Given the description of an element on the screen output the (x, y) to click on. 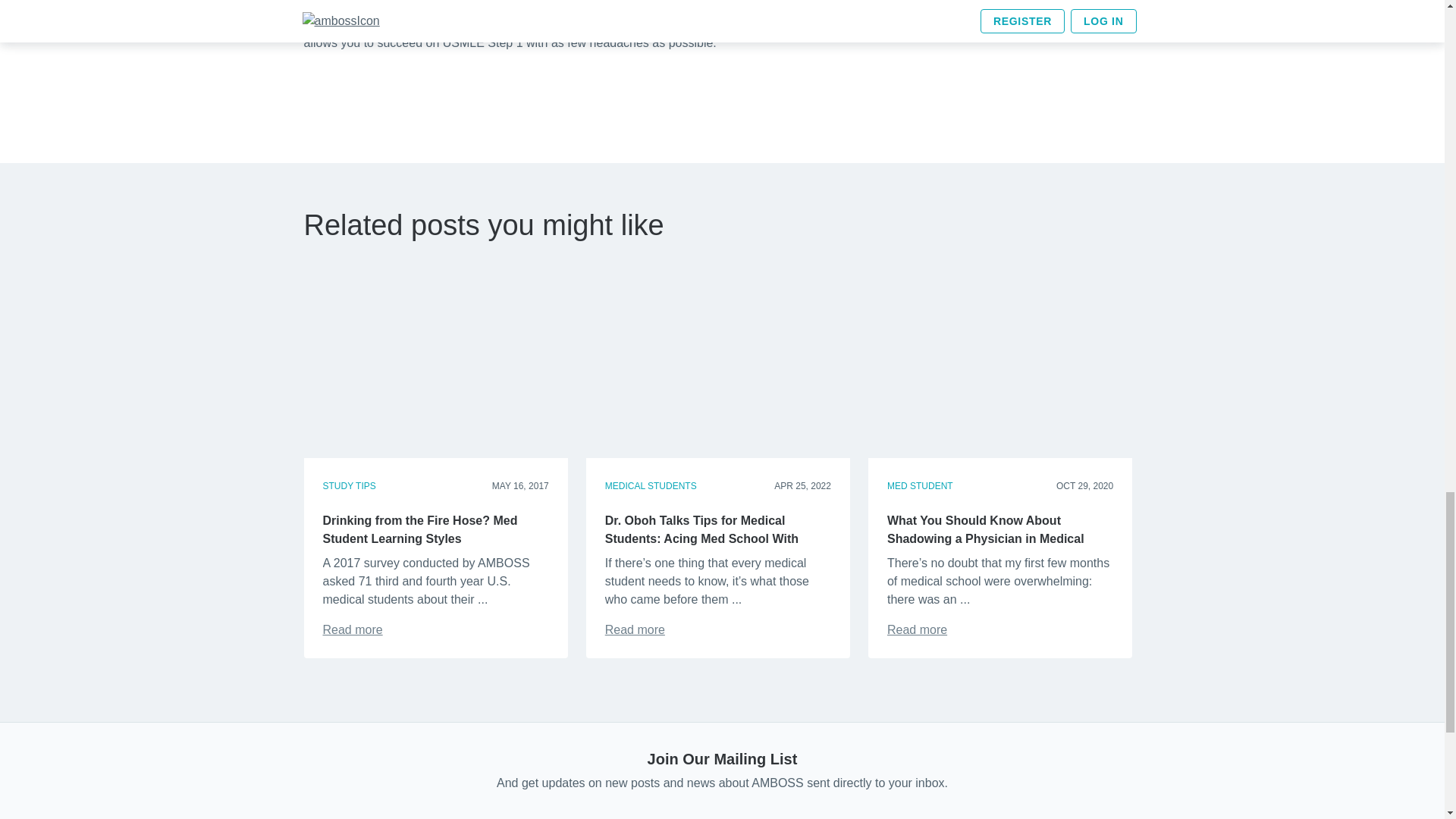
MEDICAL STUDENTS (651, 485)
MED STUDENT (919, 485)
Read more (916, 629)
STUDY TIPS (349, 485)
Read more (635, 629)
Drinking from the Fire Hose? Med Student Learning Styles (352, 629)
Read more (352, 629)
